Given the description of an element on the screen output the (x, y) to click on. 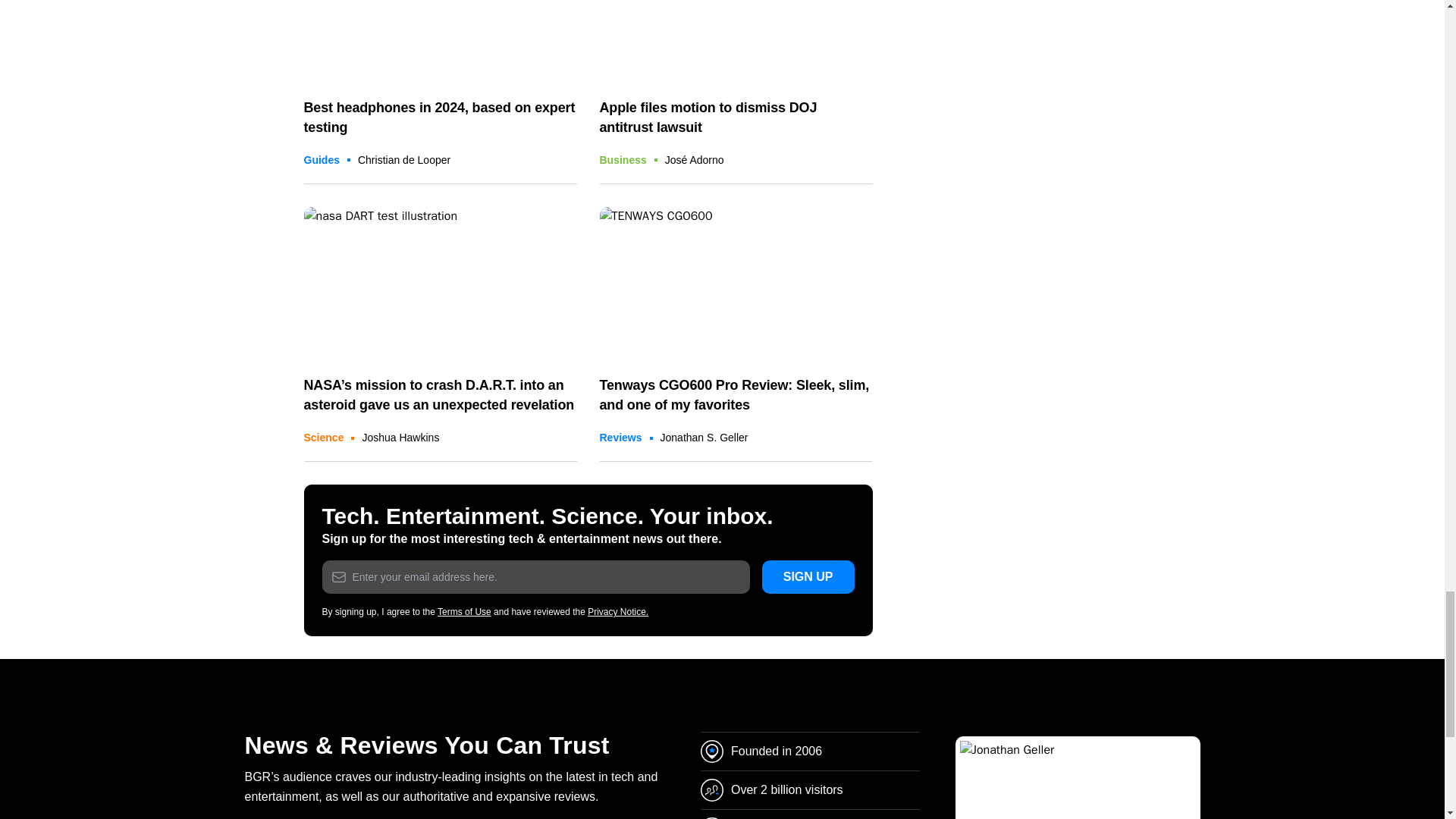
Posts by Christian de Looper (403, 159)
asteroid age (439, 284)
Posts by Joshua Hawkins (400, 437)
Best Headphones in 2022 (439, 41)
Posts by Jonathan S. Geller (704, 437)
